Given the description of an element on the screen output the (x, y) to click on. 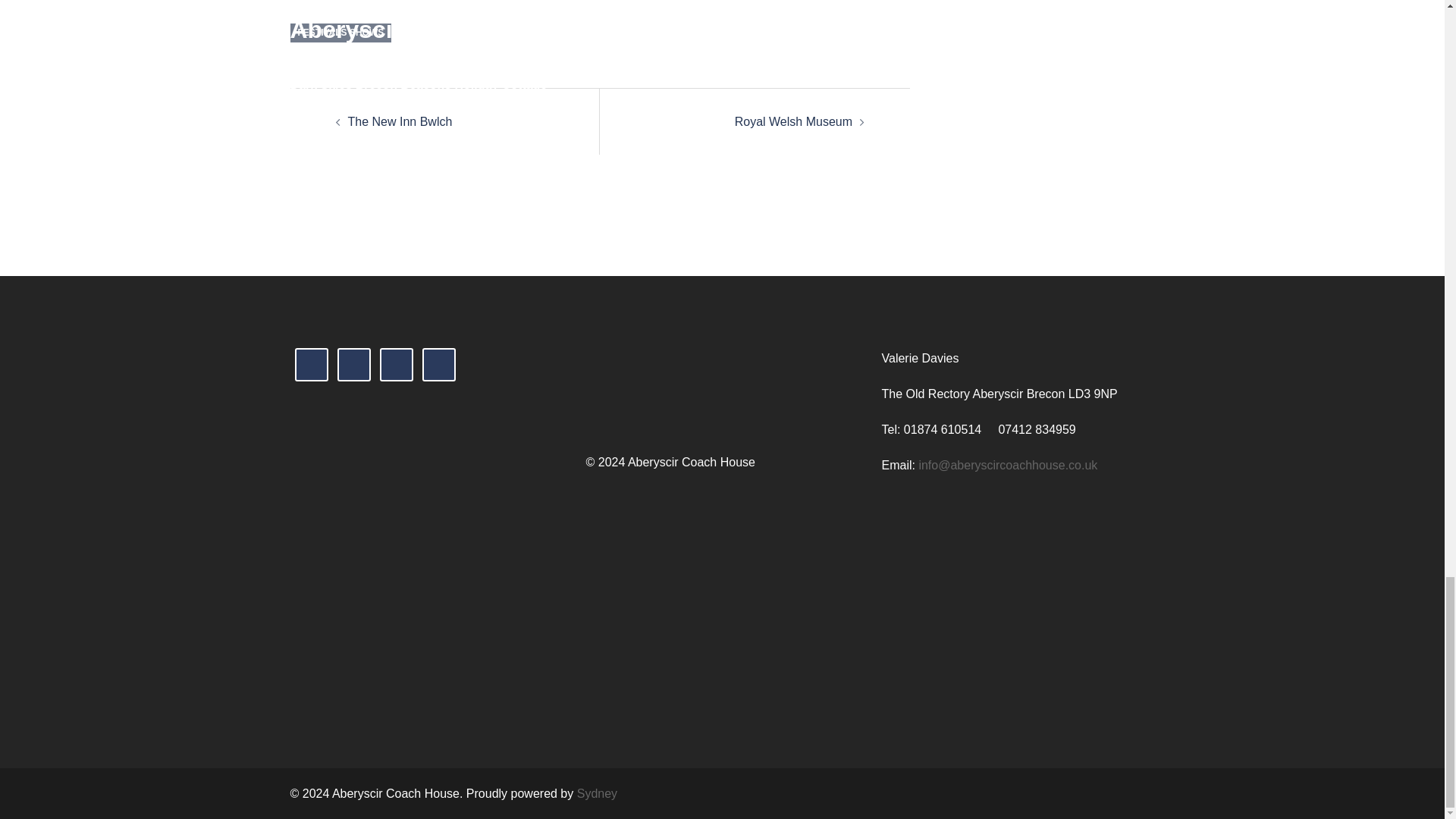
The New Inn Bwlch (399, 121)
FESTIVALS SHOWS (340, 32)
Sydney (596, 793)
Royal Welsh Museum (793, 121)
